Given the description of an element on the screen output the (x, y) to click on. 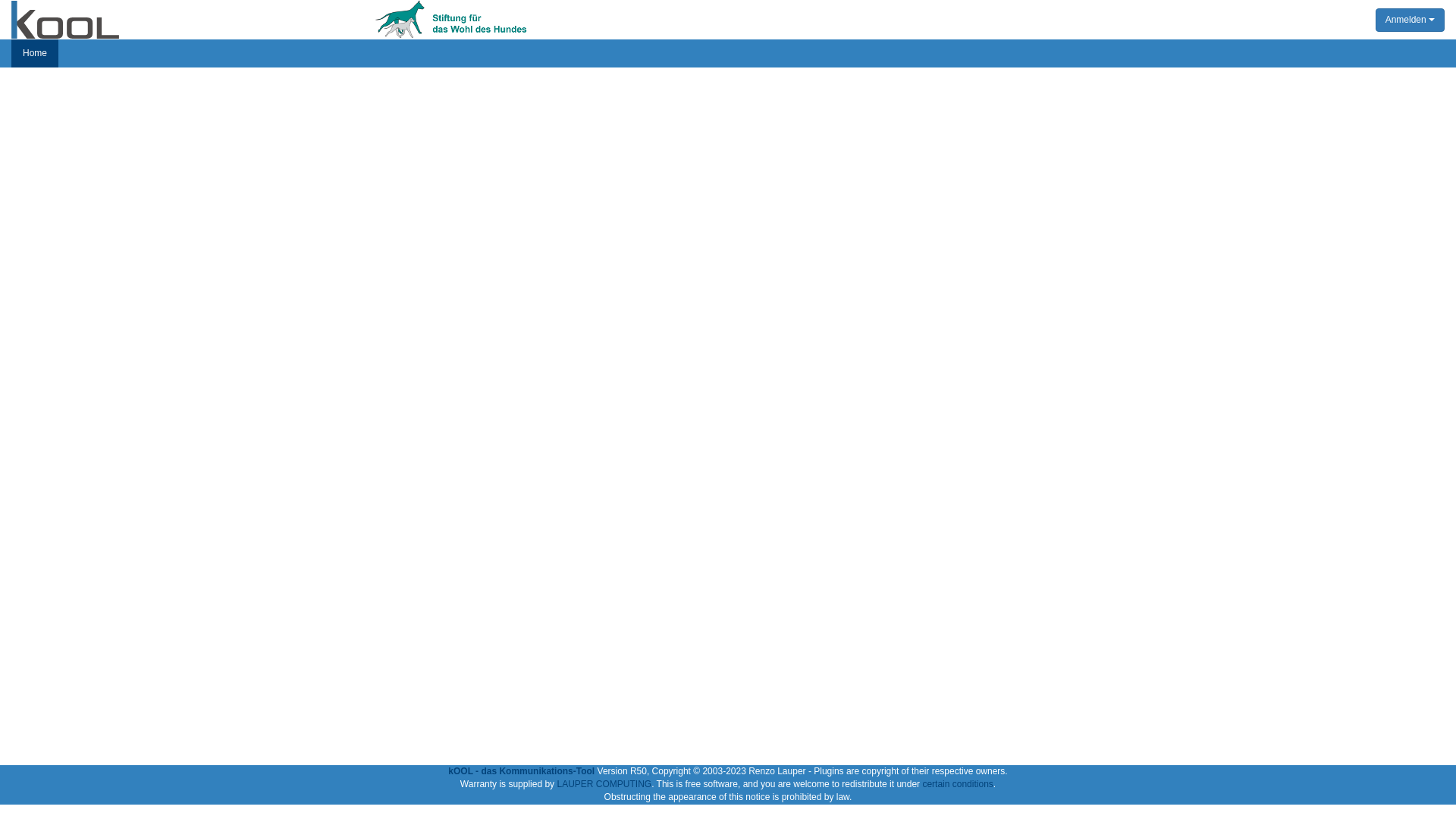
certain conditions Element type: text (957, 783)
Anmelden Element type: text (1409, 19)
LAUPER COMPUTING Element type: text (603, 783)
kOOL Element type: hover (65, 19)
Home Element type: text (34, 53)
kOOL - das Kommunikations-Tool Element type: text (521, 770)
